Given the description of an element on the screen output the (x, y) to click on. 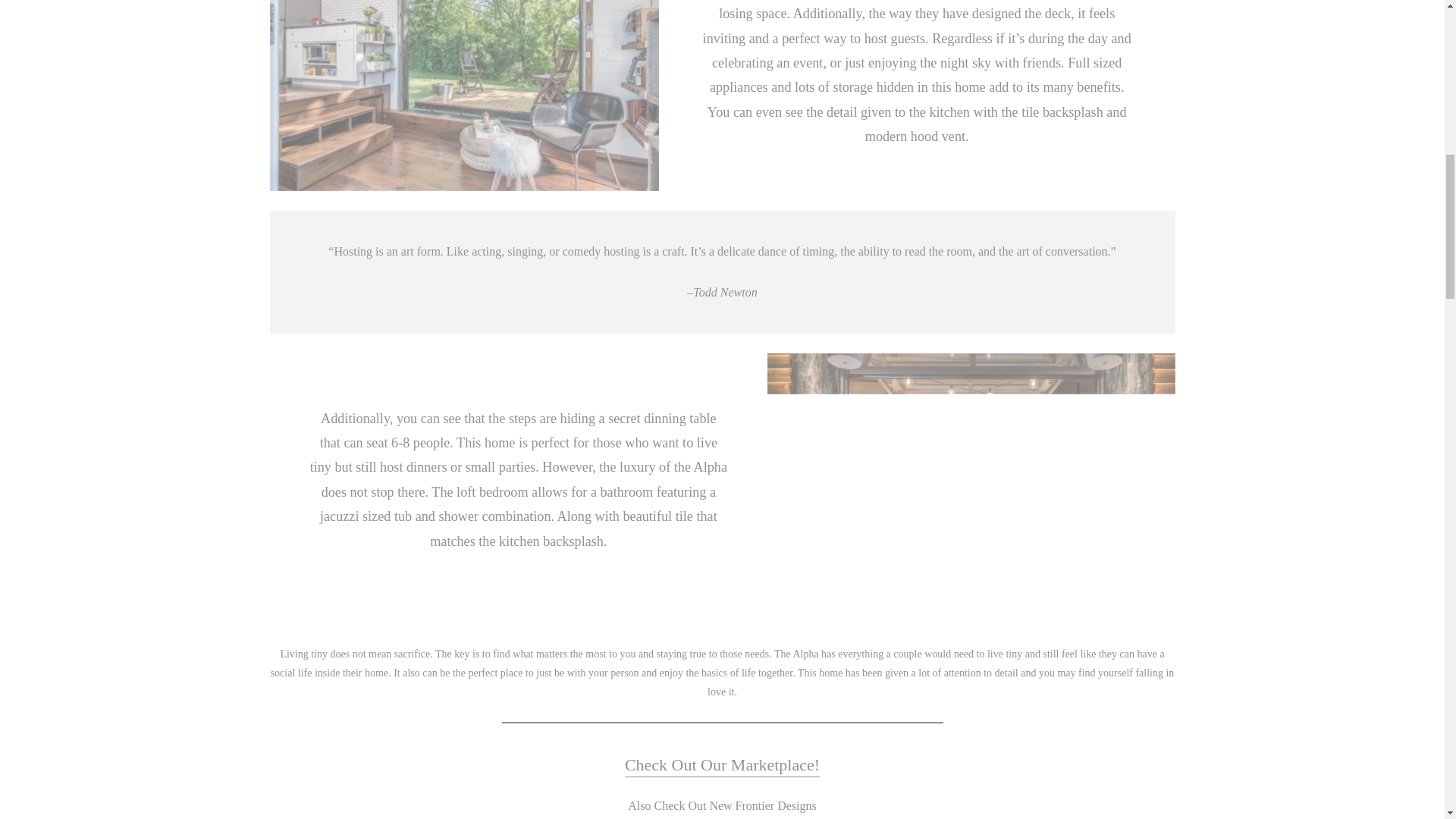
Check Out Our Marketplace! (64, 27)
Also Check Out New Frontier Designs (721, 764)
